Given the description of an element on the screen output the (x, y) to click on. 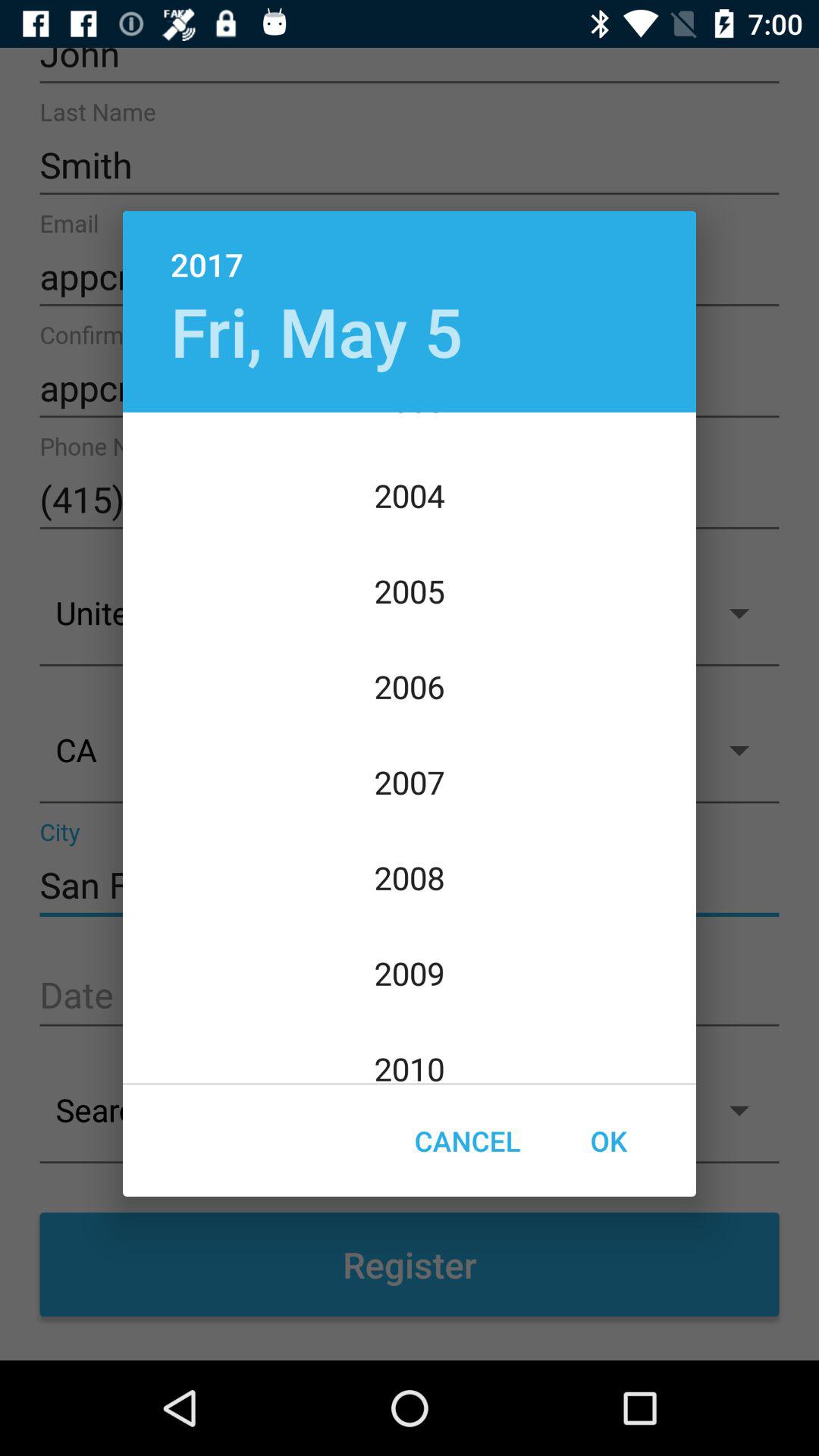
scroll until cancel item (467, 1140)
